Given the description of an element on the screen output the (x, y) to click on. 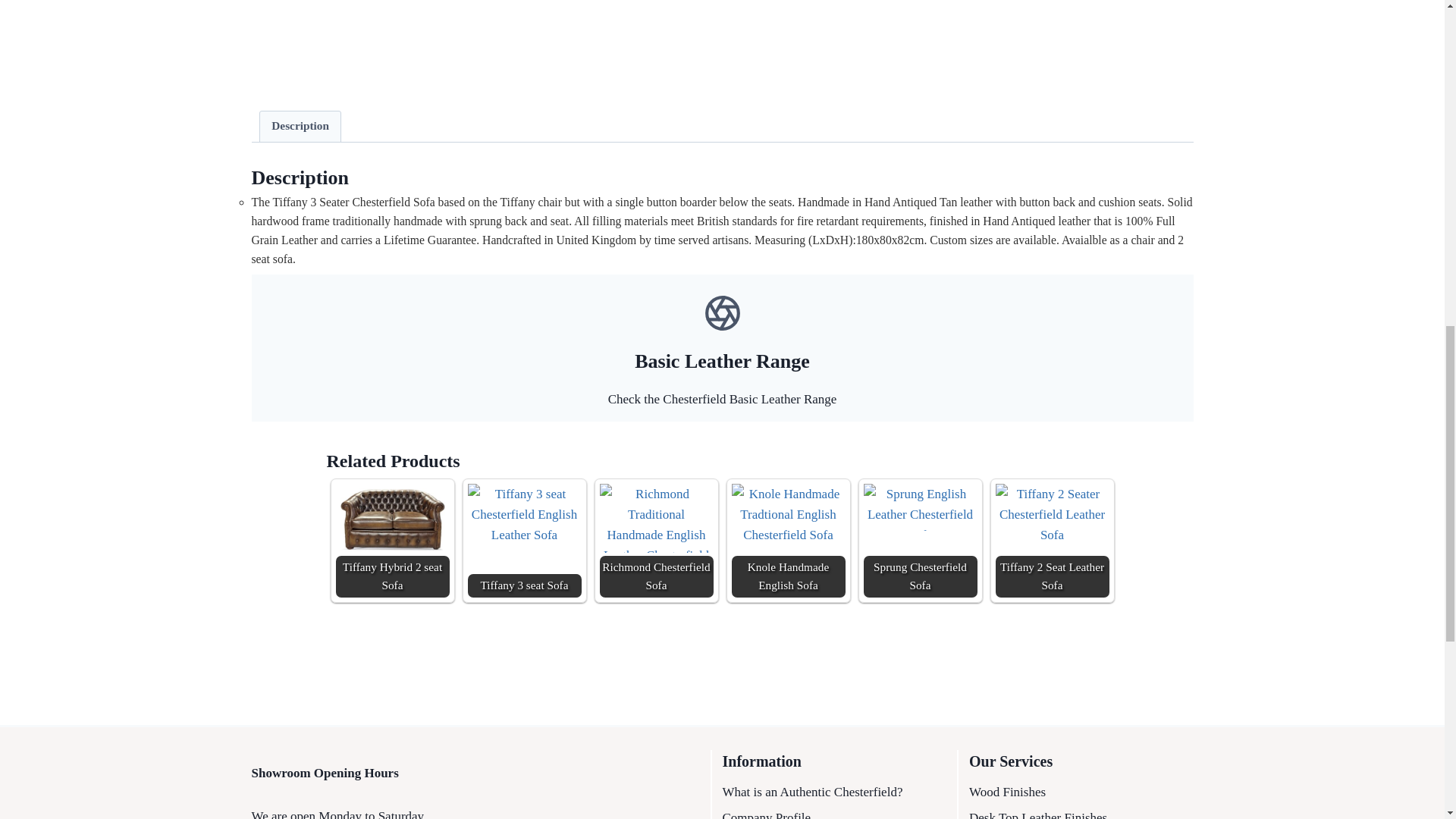
Tiffany Hybrid 2 seat Sofa (391, 520)
Richmond Chesterfield Sofa (655, 518)
Tiffany 2 Seat Leather Sofa (1051, 521)
Tiffany Hybrid 2 seat Sofa (391, 540)
Sprung Chesterfield Sofa (919, 507)
Tiffany 3 seat Sofa (523, 524)
Knole Handmade English Sofa (787, 540)
Richmond Chesterfield Sofa (655, 540)
Sprung Chesterfield Sofa (919, 540)
Description (300, 126)
Knole Handmade English Sofa (787, 513)
Tiffany 3 seat Sofa (523, 540)
